Given the description of an element on the screen output the (x, y) to click on. 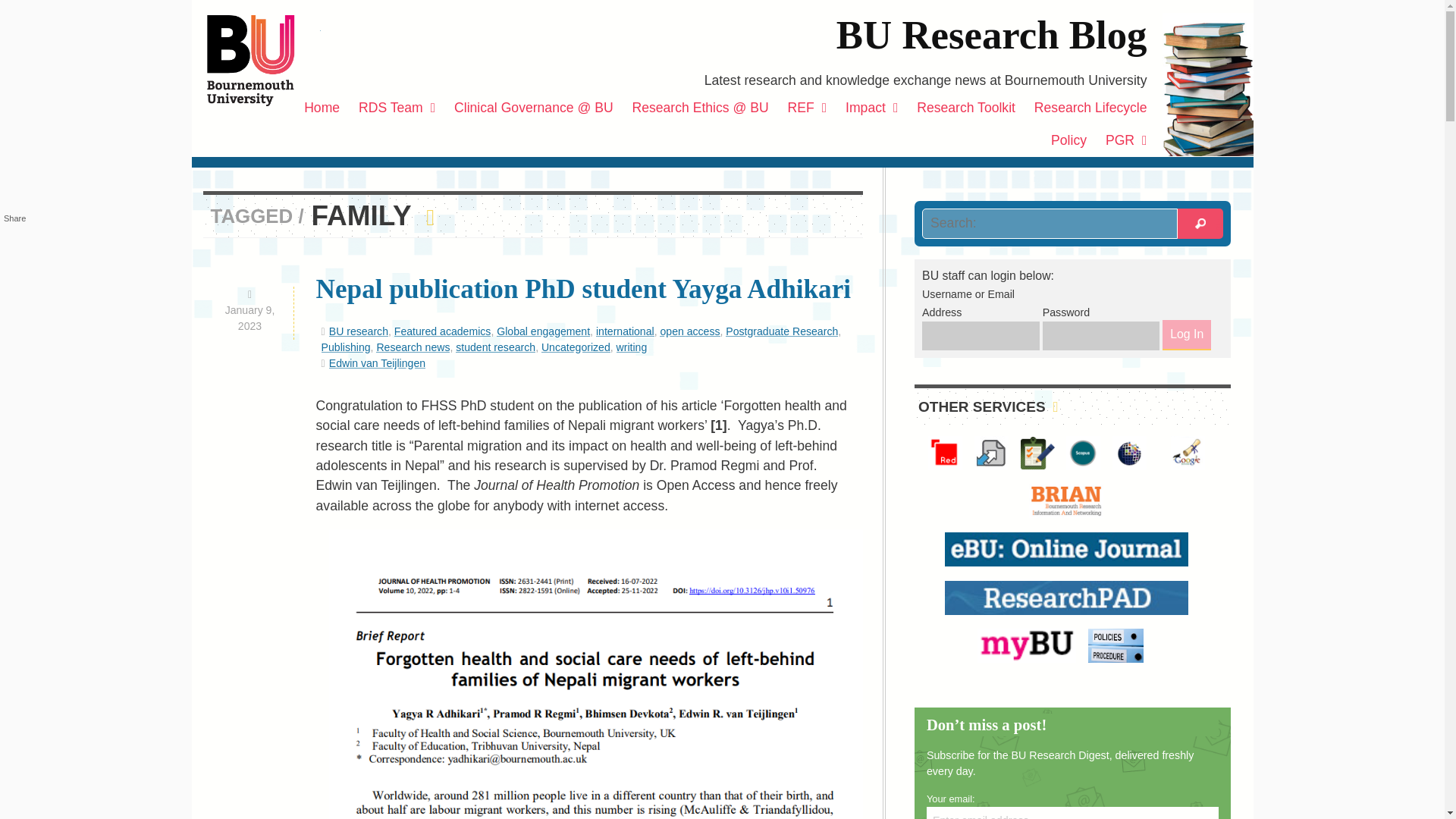
REF (807, 107)
Impact (871, 107)
Search (1200, 223)
Log In (1186, 335)
Bournemouth University (263, 60)
Posts by Edwin van Teijlingen (377, 363)
BU Research Blog (991, 34)
RDS Team (396, 107)
Nepal publication PhD student Yayga Adhikari (583, 288)
Home (322, 107)
Research Toolkit (965, 107)
Enter email address... (1072, 812)
Bournemouth University home page (263, 60)
